Given the description of an element on the screen output the (x, y) to click on. 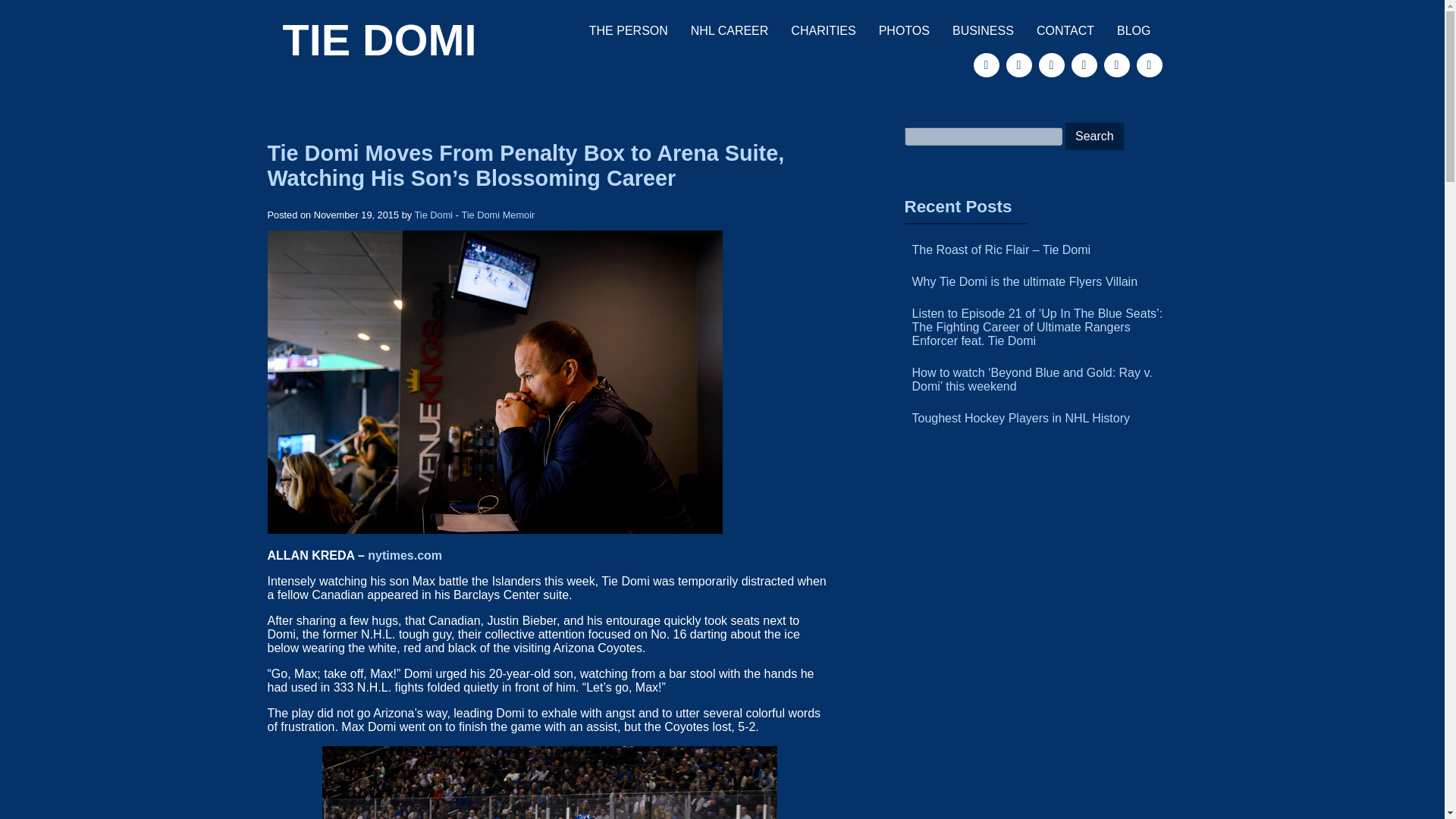
Tie Domi (432, 215)
CHARITIES (822, 31)
Toughest Hockey Players in NHL History (1020, 418)
Posts by Tie Domi (432, 215)
nytimes.com (405, 554)
PHOTOS (903, 31)
THE PERSON (628, 31)
CONTACT (1065, 31)
Tie Domi Memoir (497, 215)
NHL CAREER (729, 31)
